Given the description of an element on the screen output the (x, y) to click on. 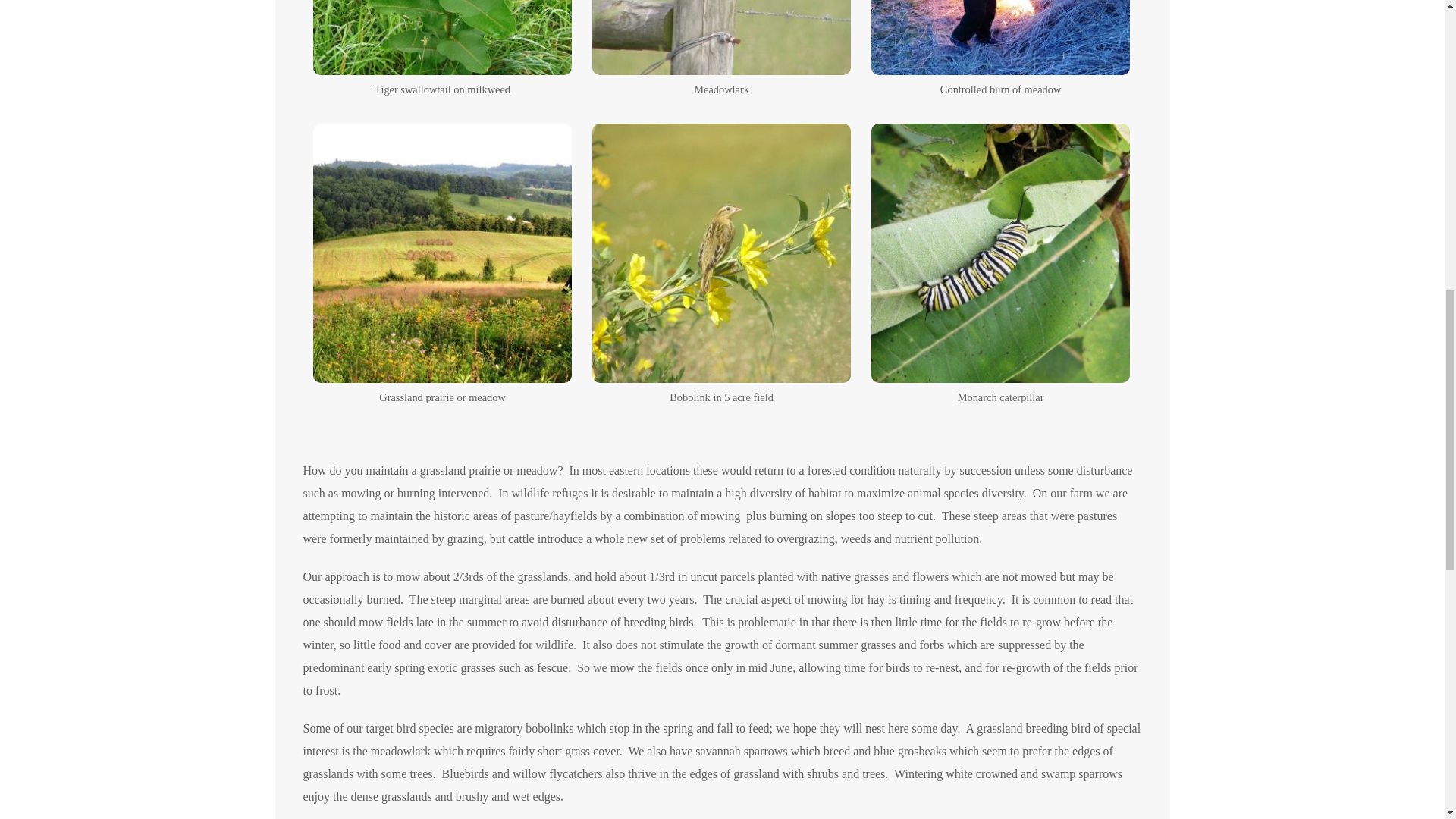
Grassland prairie or meadow (442, 253)
Tiger swallowtail on milkweed (442, 37)
Meadowlark (721, 37)
Bobolink in 5 acre field (721, 253)
Controlled burn of meadow (1000, 37)
Monarch caterpillar (1000, 253)
